Given the description of an element on the screen output the (x, y) to click on. 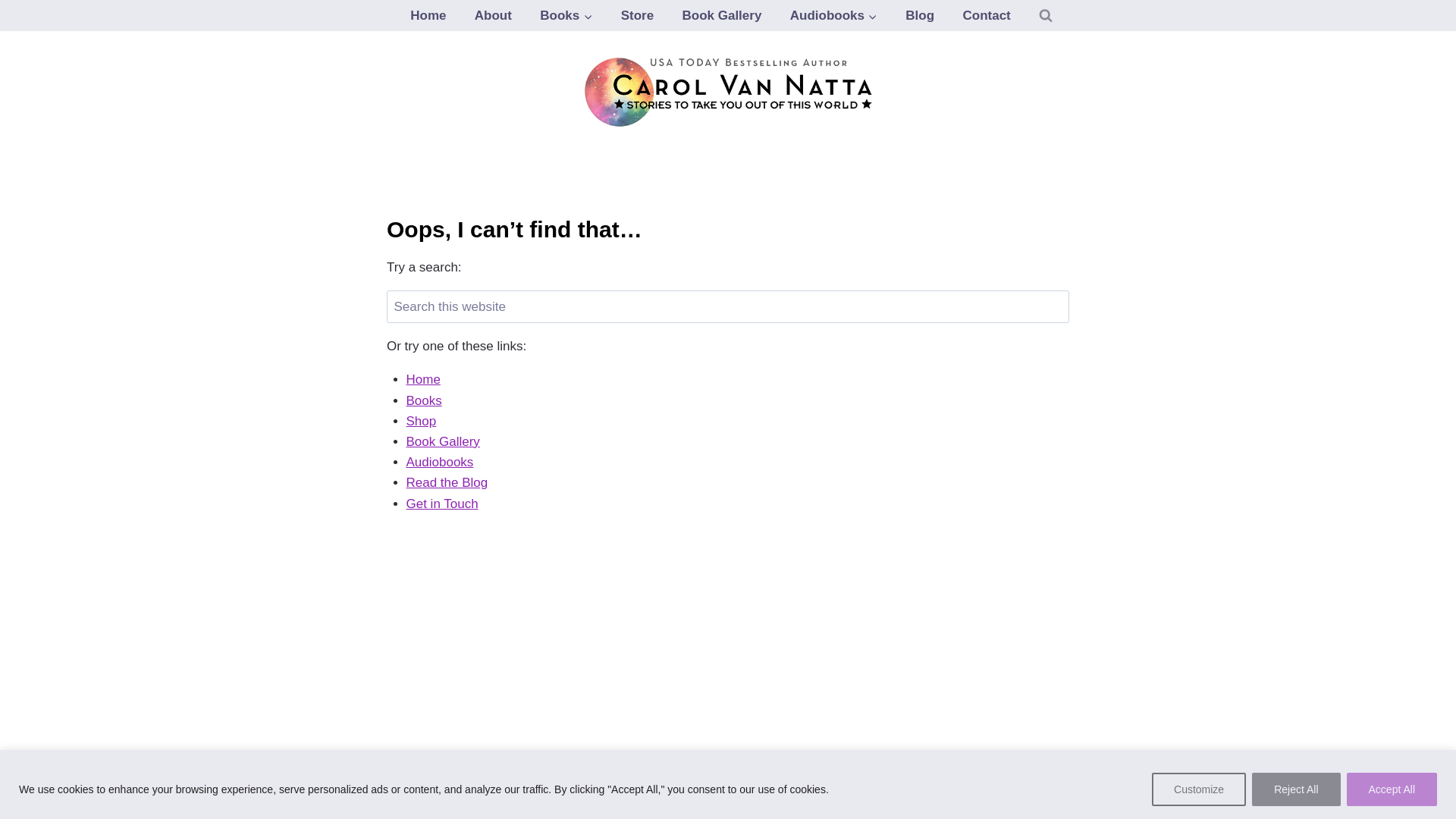
Accept All (1391, 788)
Books (566, 15)
Reject All (1295, 788)
Home (428, 15)
About (492, 15)
Customize (1198, 788)
